Given the description of an element on the screen output the (x, y) to click on. 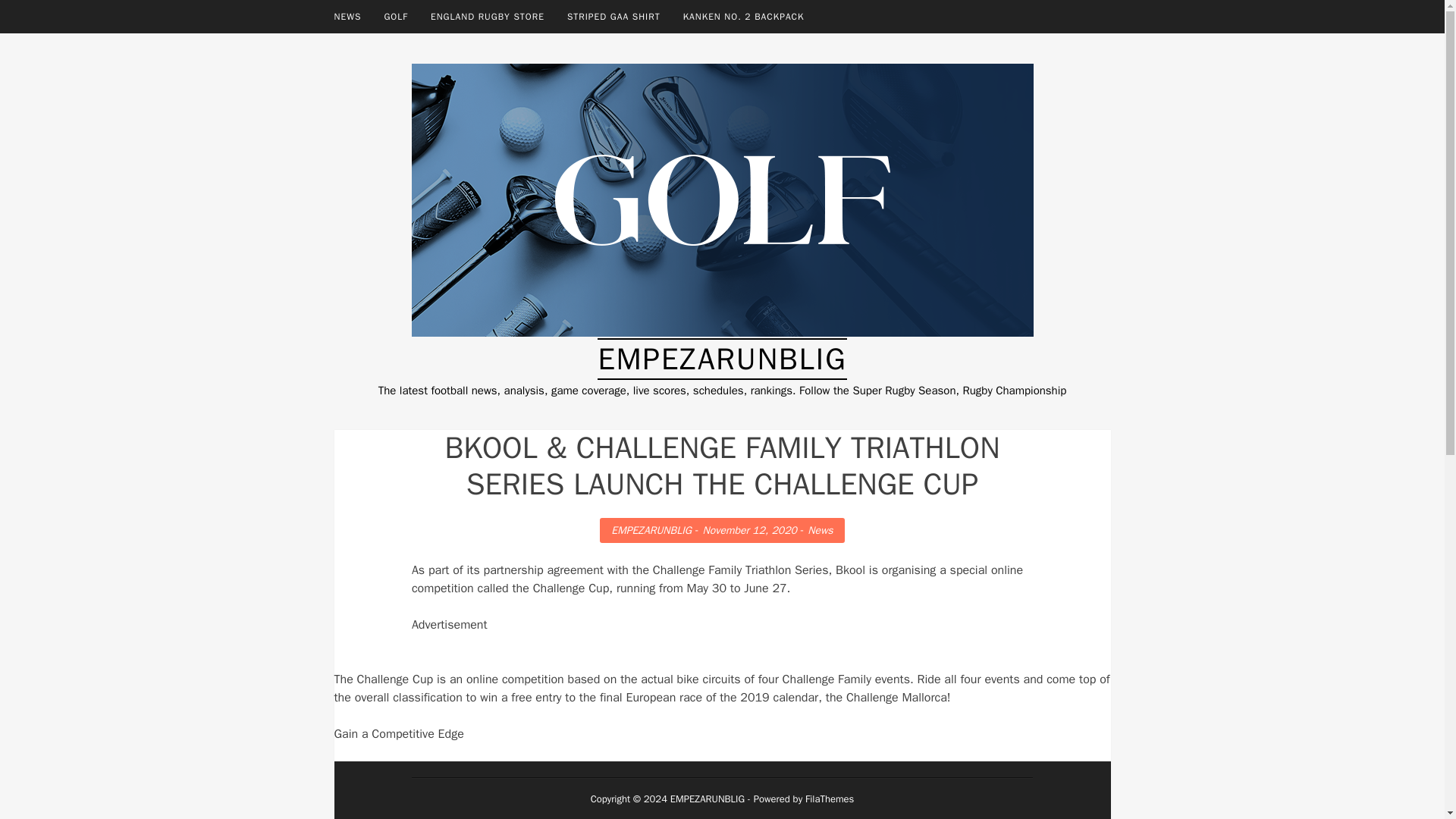
KANKEN NO. 2 BACKPACK (743, 16)
News (820, 529)
EMPEZARUNBLIG (651, 529)
EMPEZARUNBLIG (720, 359)
ENGLAND RUGBY STORE (487, 16)
GOLF (395, 16)
NEWS (347, 16)
FilaThemes (829, 798)
STRIPED GAA SHIRT (613, 16)
November 12, 2020 (748, 529)
